Given the description of an element on the screen output the (x, y) to click on. 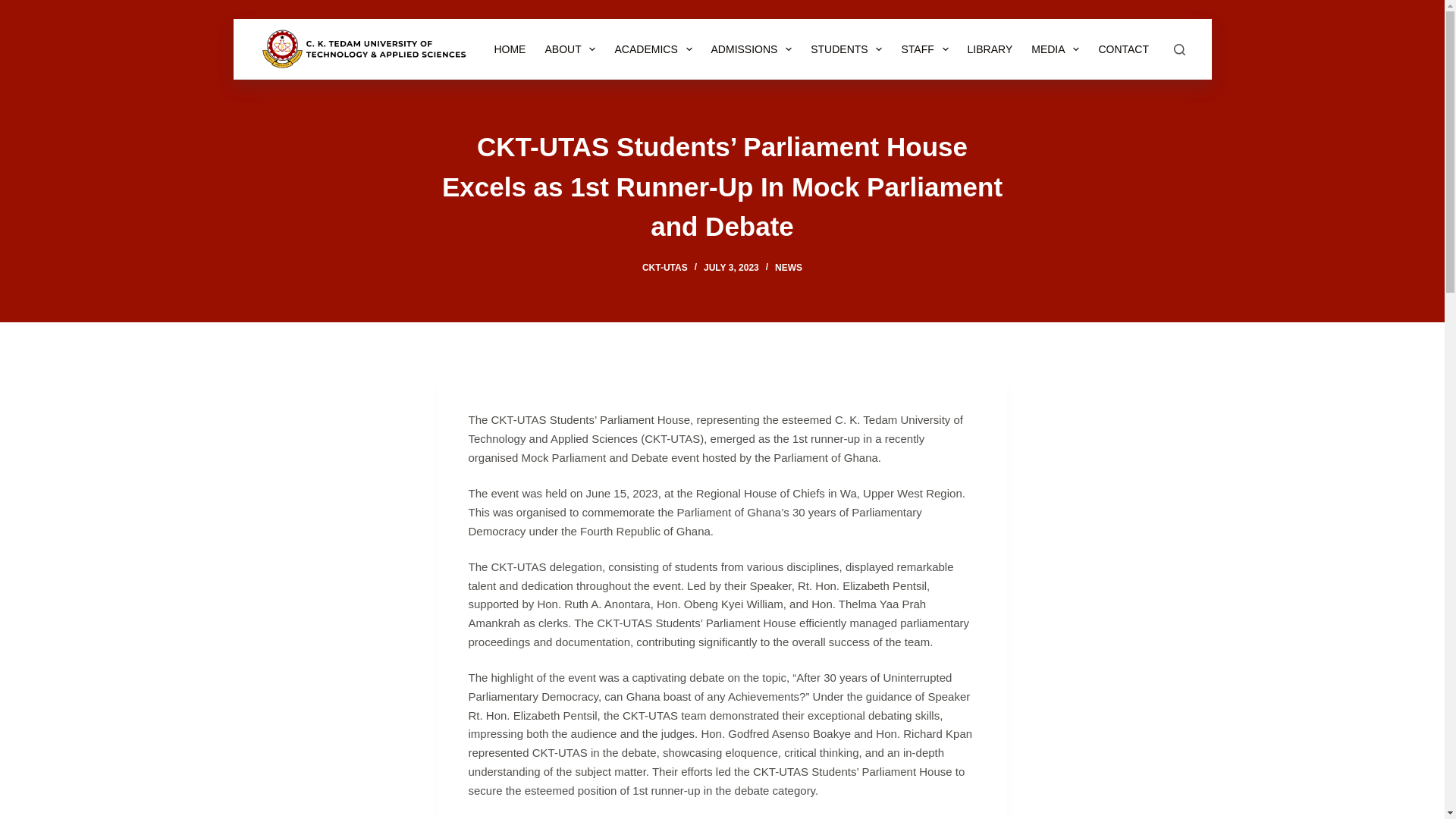
Skip to content (15, 7)
Posts by CKT-UTAS (664, 267)
